Given the description of an element on the screen output the (x, y) to click on. 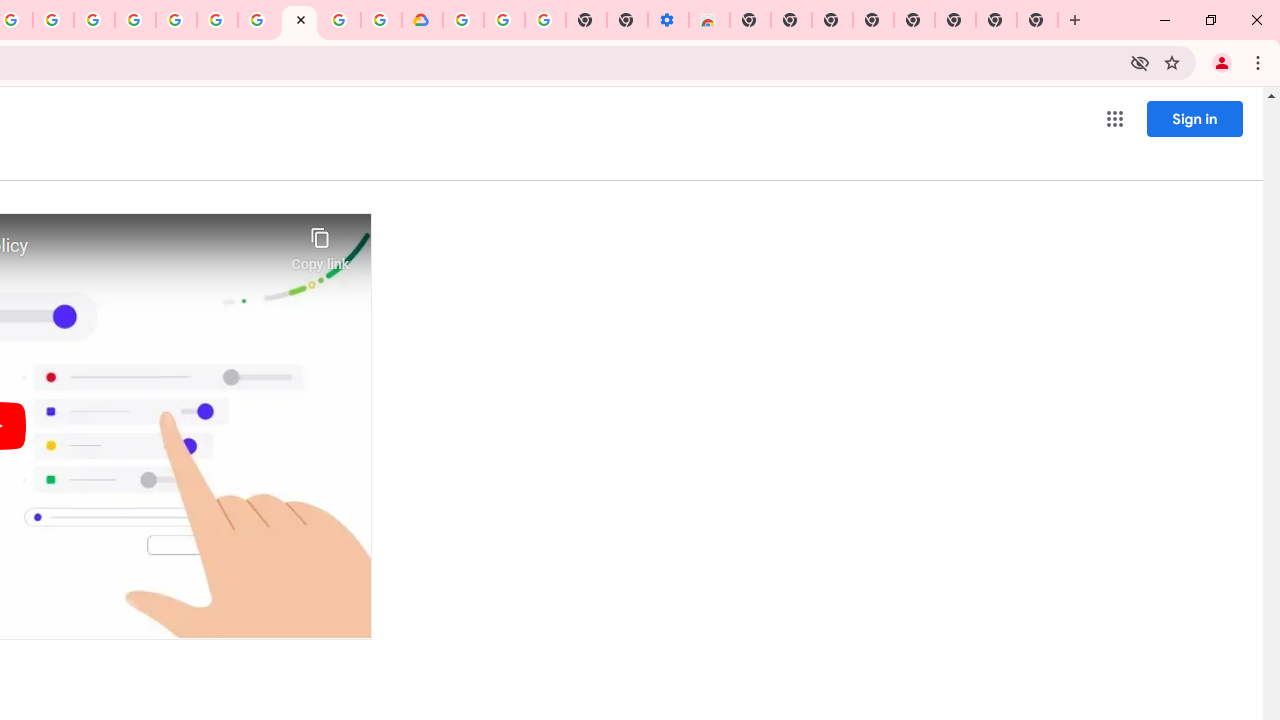
Browse the Google Chrome Community - Google Chrome Community (381, 20)
Google Account Help (258, 20)
Chrome Web Store - Accessibility extensions (708, 20)
New Tab (749, 20)
Ad Settings (135, 20)
Create your Google Account (340, 20)
Google Account Help (503, 20)
